Given the description of an element on the screen output the (x, y) to click on. 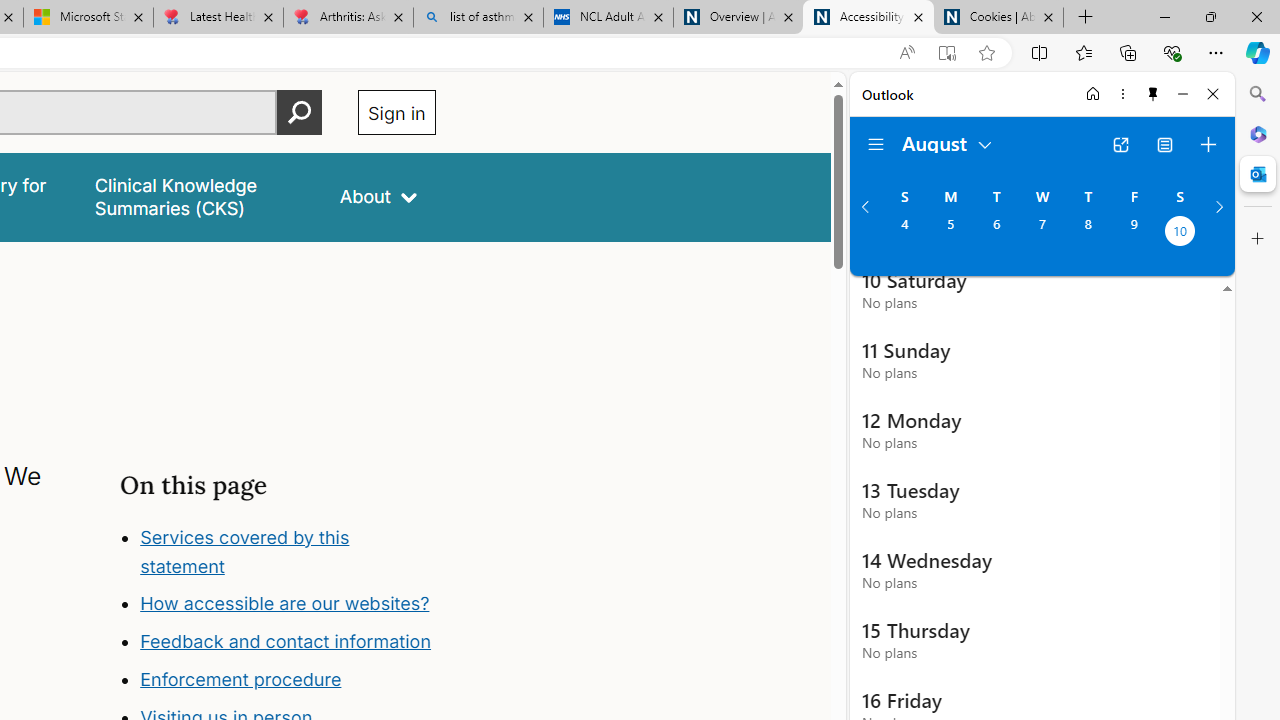
How accessible are our websites? (287, 604)
Tuesday, August 6, 2024.  (996, 233)
How accessible are our websites? (284, 603)
Wednesday, August 7, 2024.  (1042, 233)
About (378, 196)
